Given the description of an element on the screen output the (x, y) to click on. 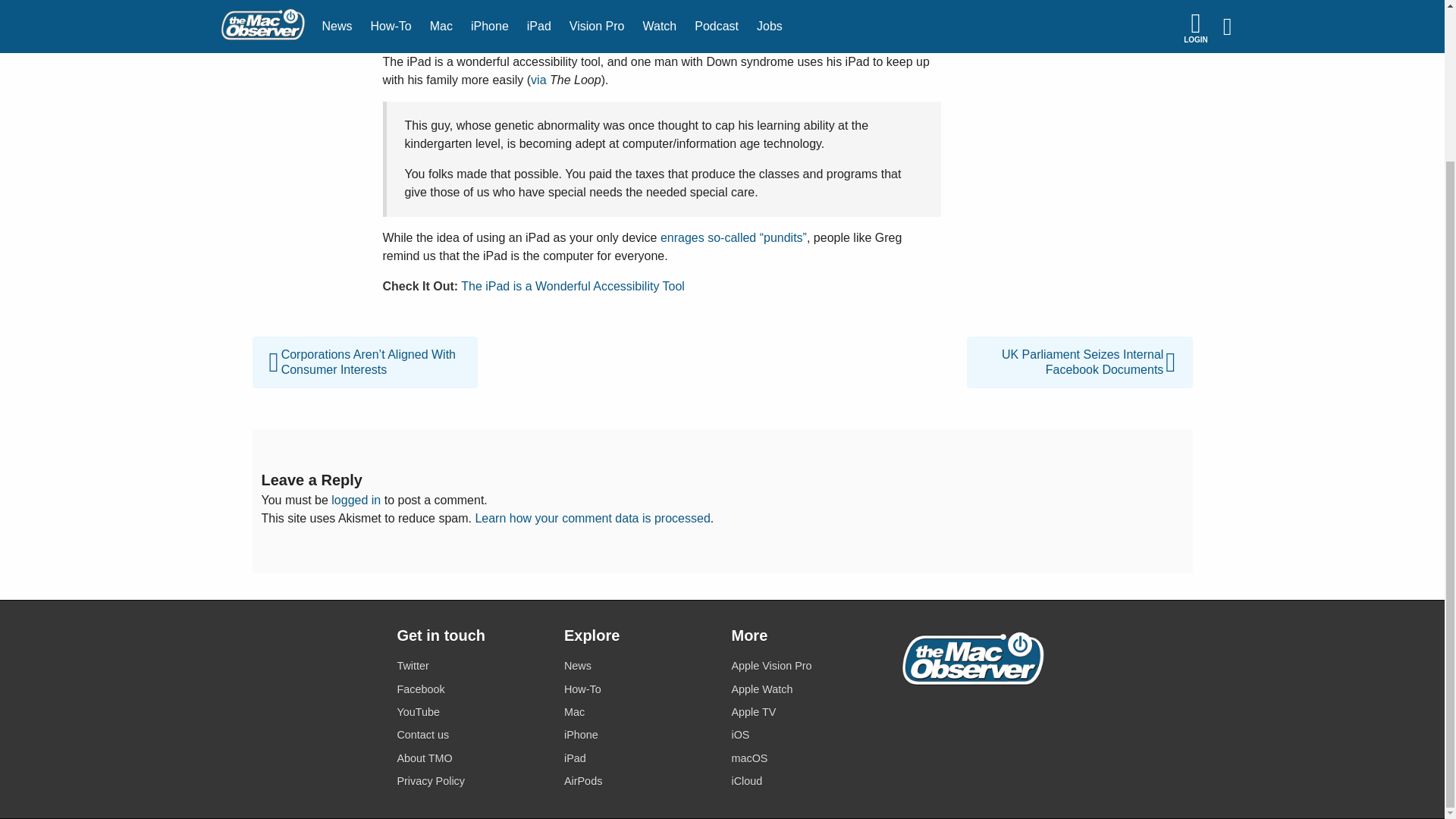
News (638, 666)
Mac (638, 711)
YouTube (471, 711)
iOS (805, 734)
UK Parliament Seizes Internal Facebook Documents (1079, 345)
Twitter (471, 666)
How-To (638, 689)
iPad (638, 758)
Apple TV (805, 711)
About TMO (471, 758)
